Given the description of an element on the screen output the (x, y) to click on. 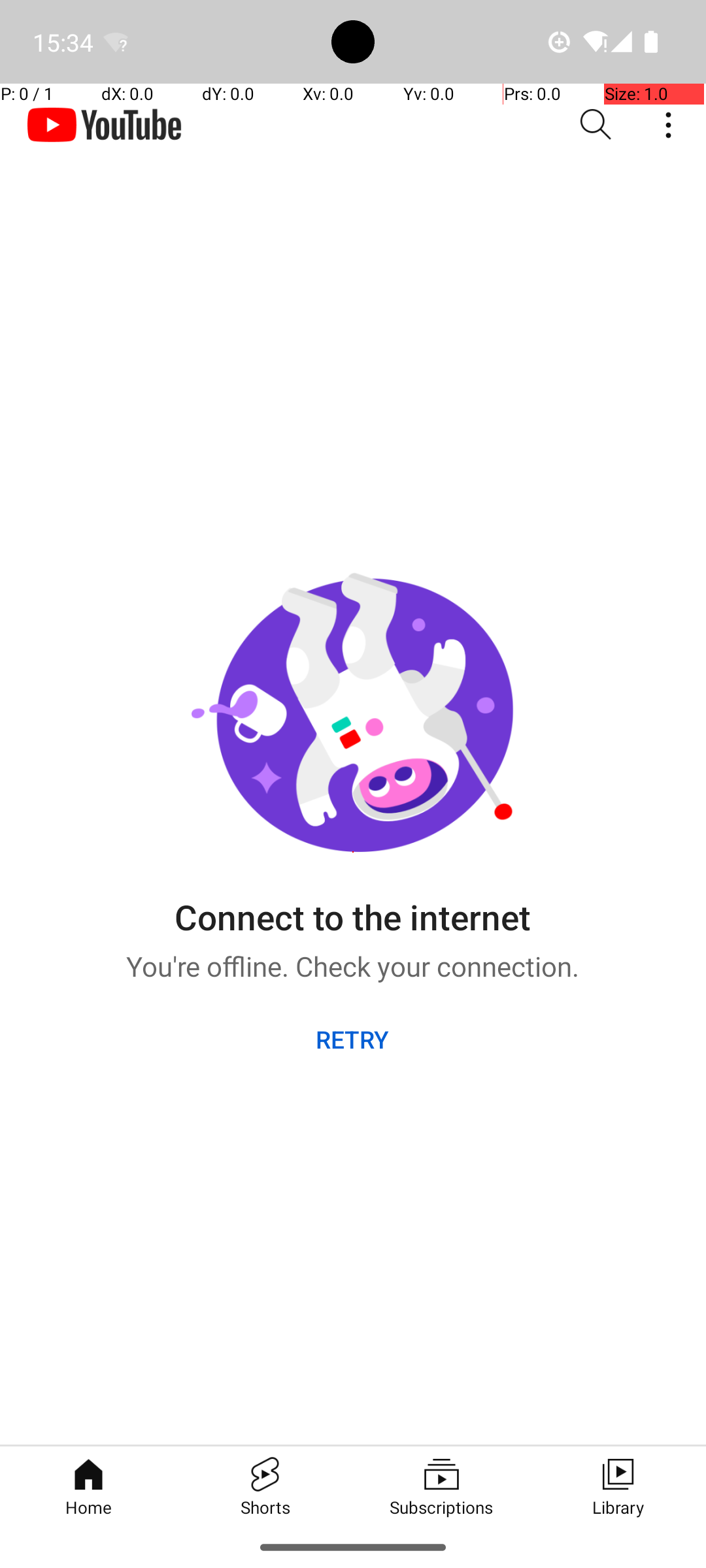
Connect to the internet Element type: android.widget.TextView (351, 906)
You're offline. Check your connection. Element type: android.widget.TextView (352, 962)
RETRY Element type: android.widget.TextView (352, 1039)
